Given the description of an element on the screen output the (x, y) to click on. 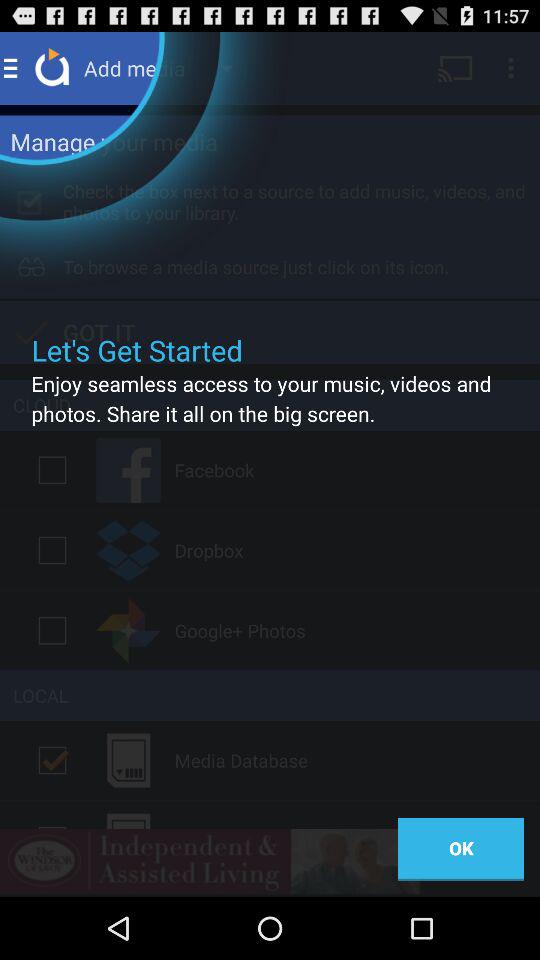
add media (52, 760)
